Given the description of an element on the screen output the (x, y) to click on. 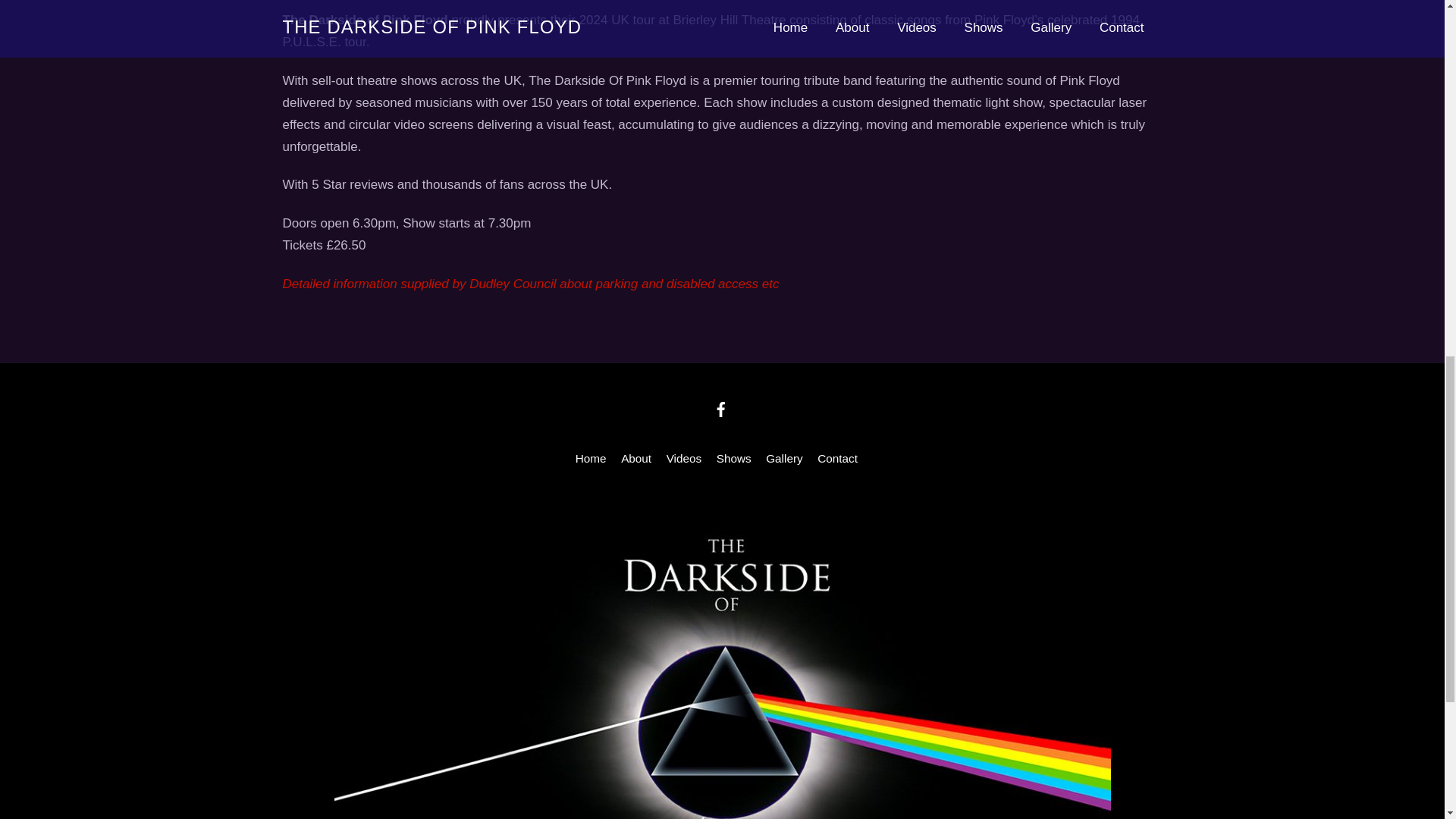
Videos (683, 458)
Home (591, 458)
Shows (733, 458)
About (635, 458)
Contact (836, 458)
Gallery (783, 458)
